Given the description of an element on the screen output the (x, y) to click on. 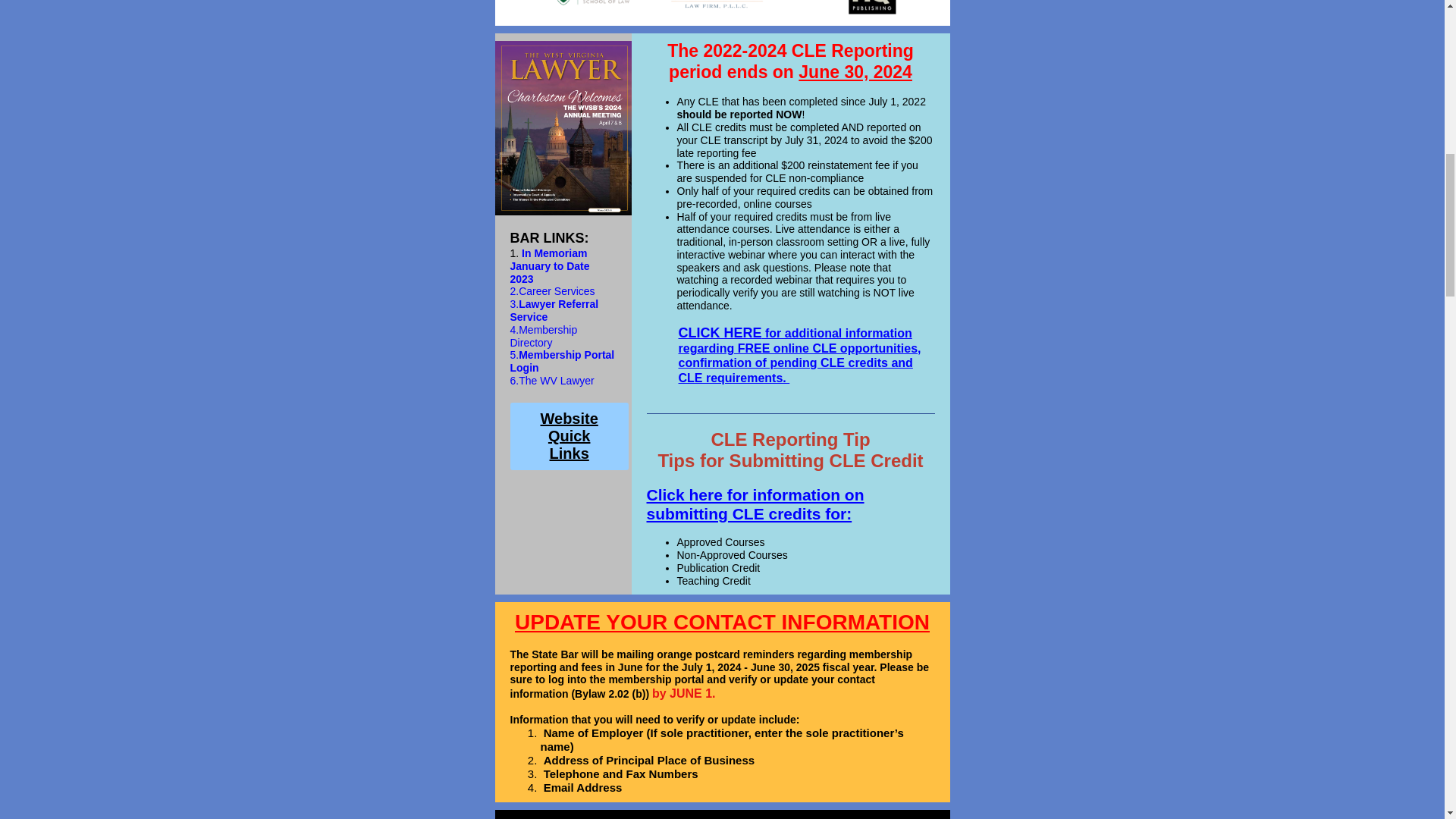
CLICK HERE (719, 332)
Career Services (556, 291)
Click here for information on submitting CLE credits for: (754, 504)
Membership Portal Login (561, 360)
The WV Lawyer (556, 380)
Lawyer Referral Service (553, 310)
Website Quick Links (568, 435)
In Memoriam January to Date 2023 (549, 266)
Membership Directory (542, 335)
